Given the description of an element on the screen output the (x, y) to click on. 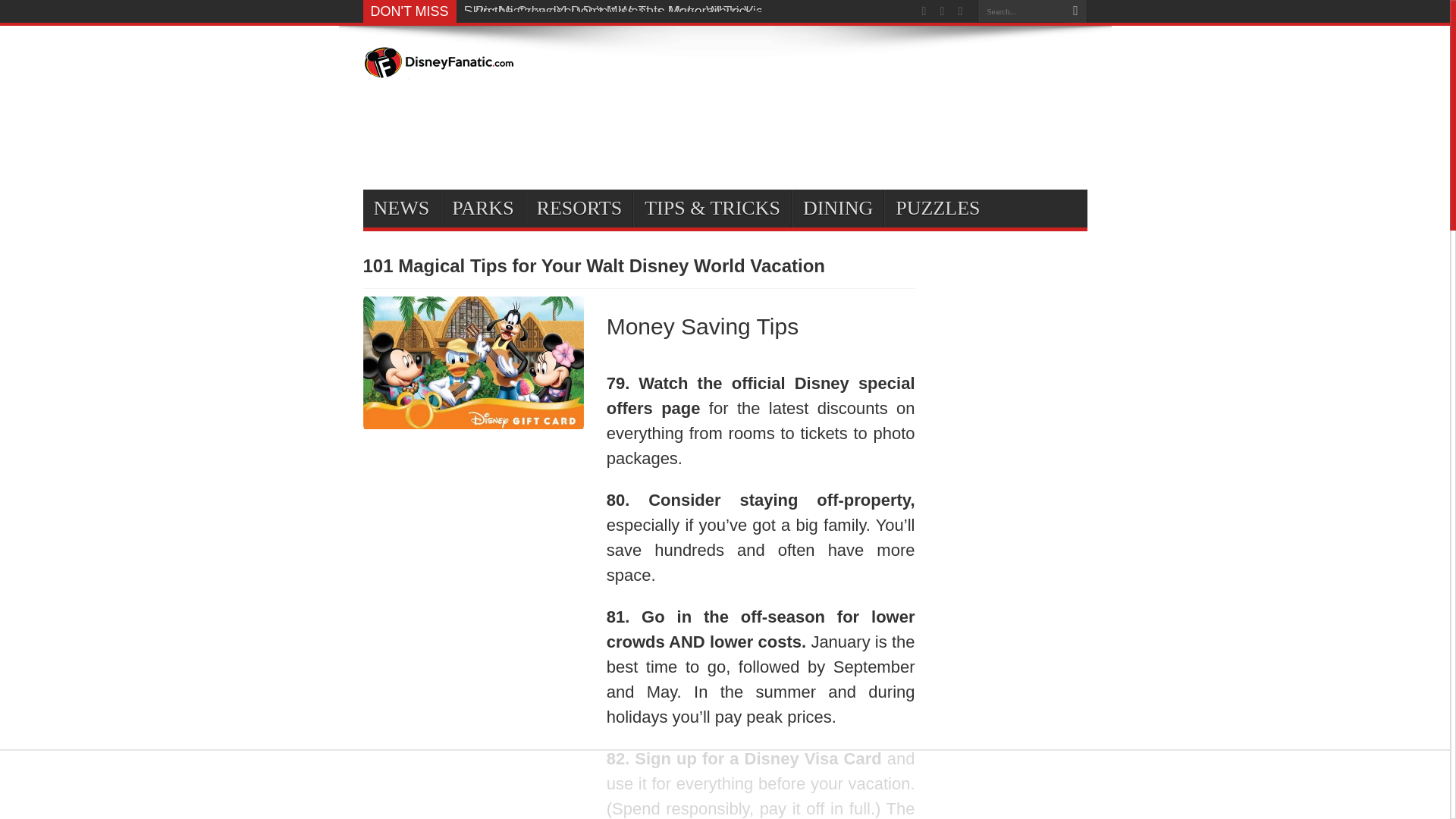
Search... (1020, 11)
NEWS (400, 208)
DisneyFanatic.com (437, 67)
DINING (837, 208)
Search (1075, 11)
PARKS (482, 208)
PUZZLES (936, 208)
RESORTS (579, 208)
